Given the description of an element on the screen output the (x, y) to click on. 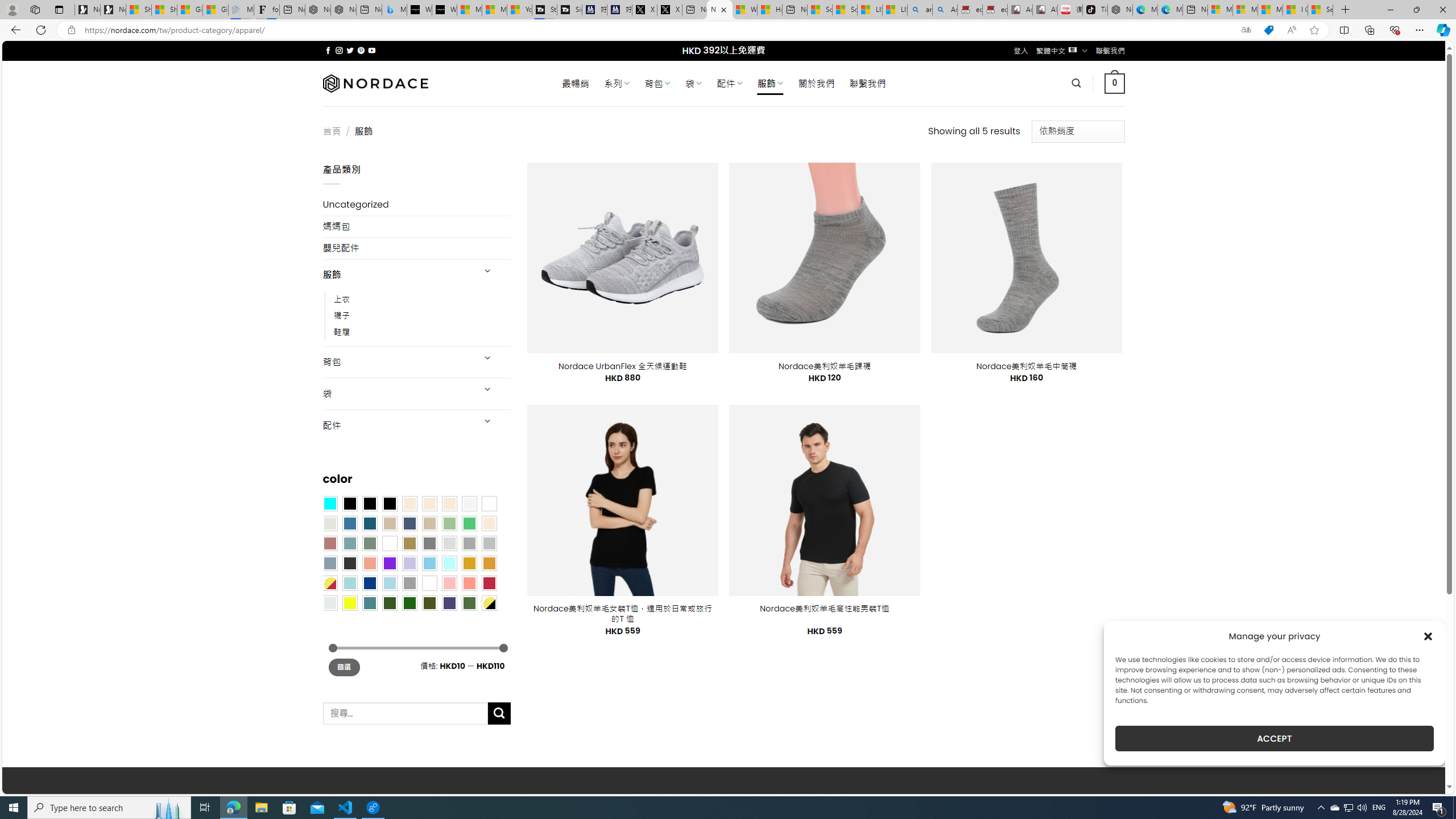
Go to top (1421, 777)
